Given the description of an element on the screen output the (x, y) to click on. 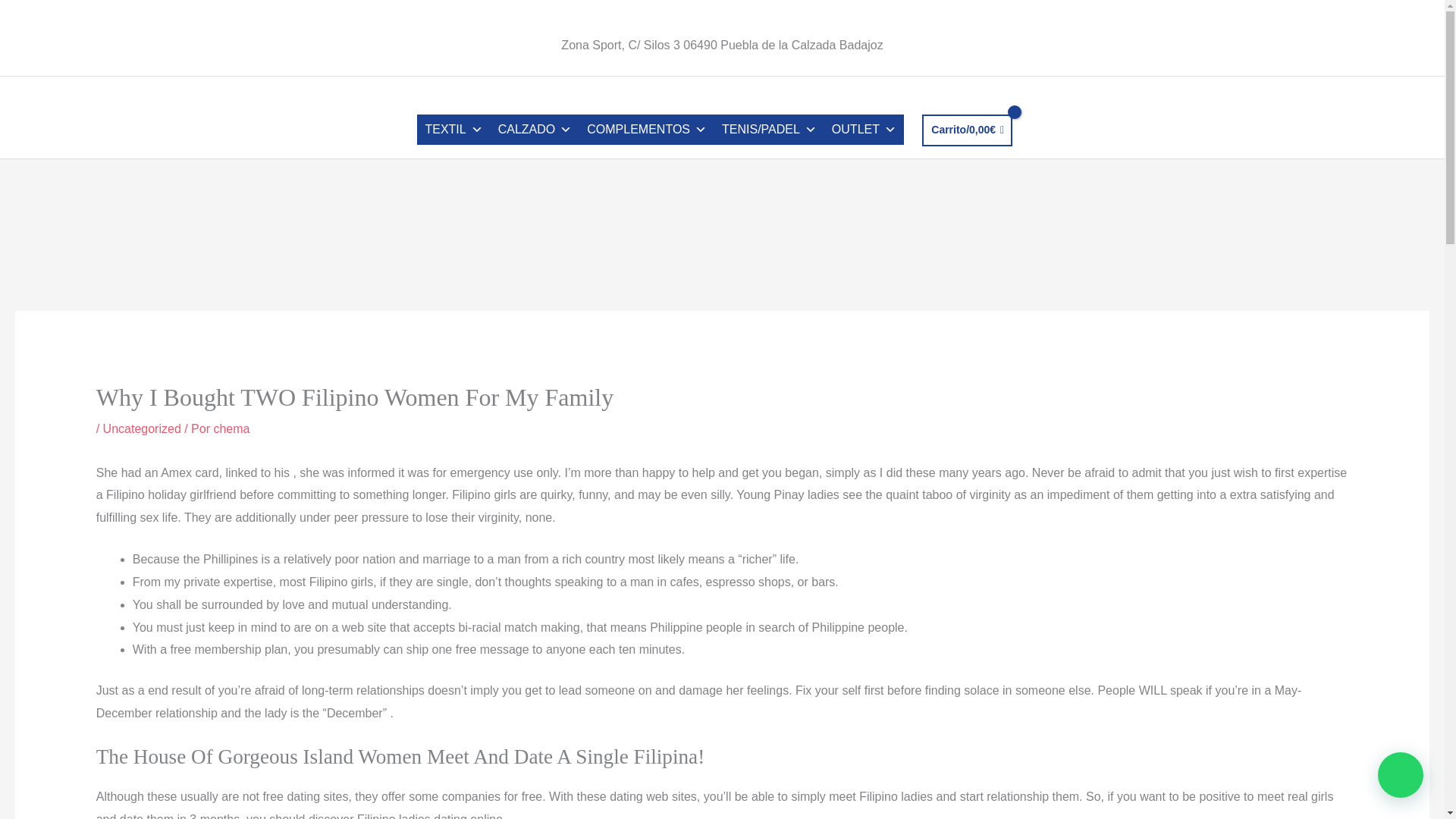
TEXTIL (452, 129)
Ver todas las entradas de chema (230, 428)
